Given the description of an element on the screen output the (x, y) to click on. 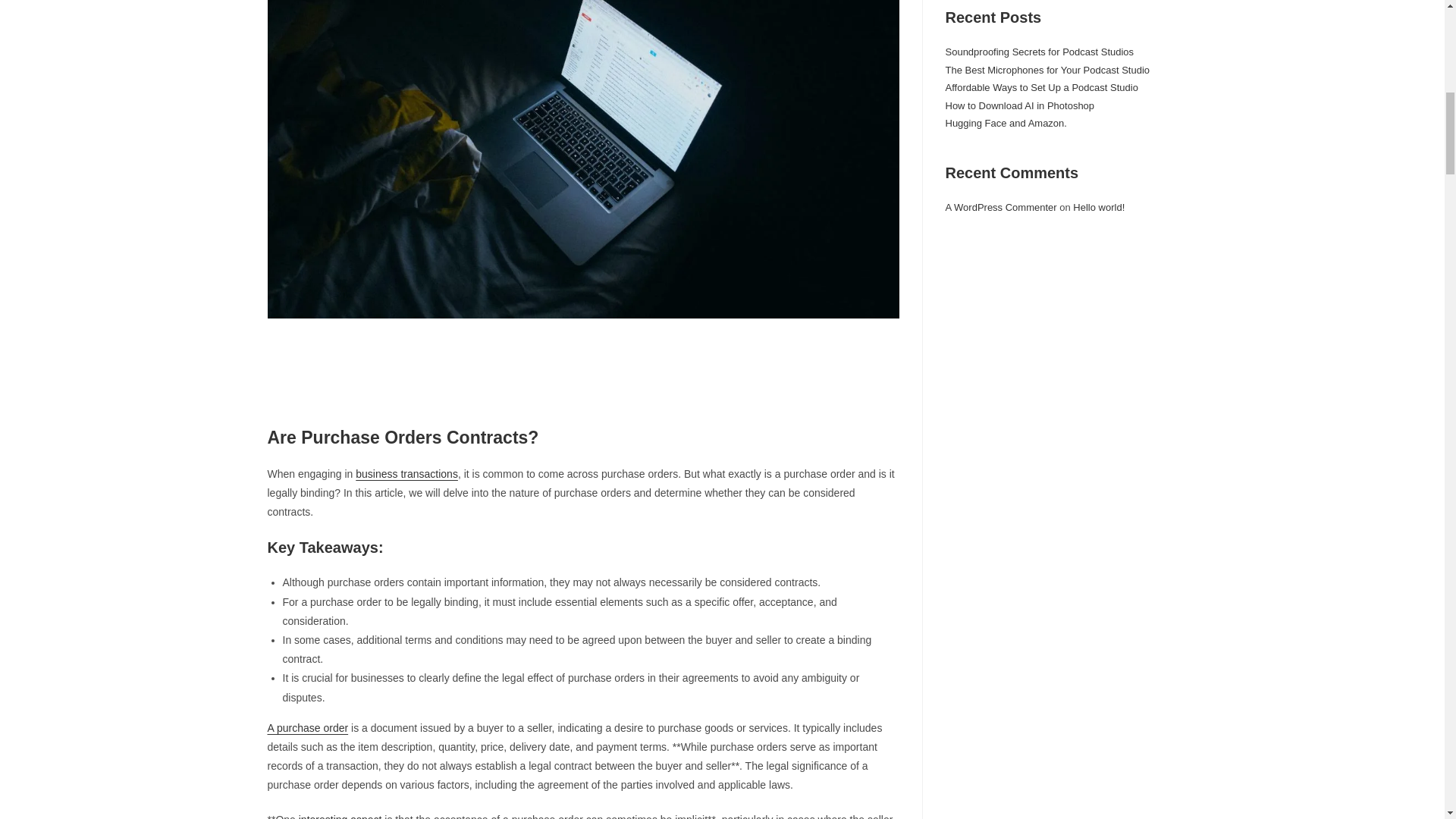
interesting aspect (339, 816)
A purchase order (306, 727)
business transactions (406, 473)
